Given the description of an element on the screen output the (x, y) to click on. 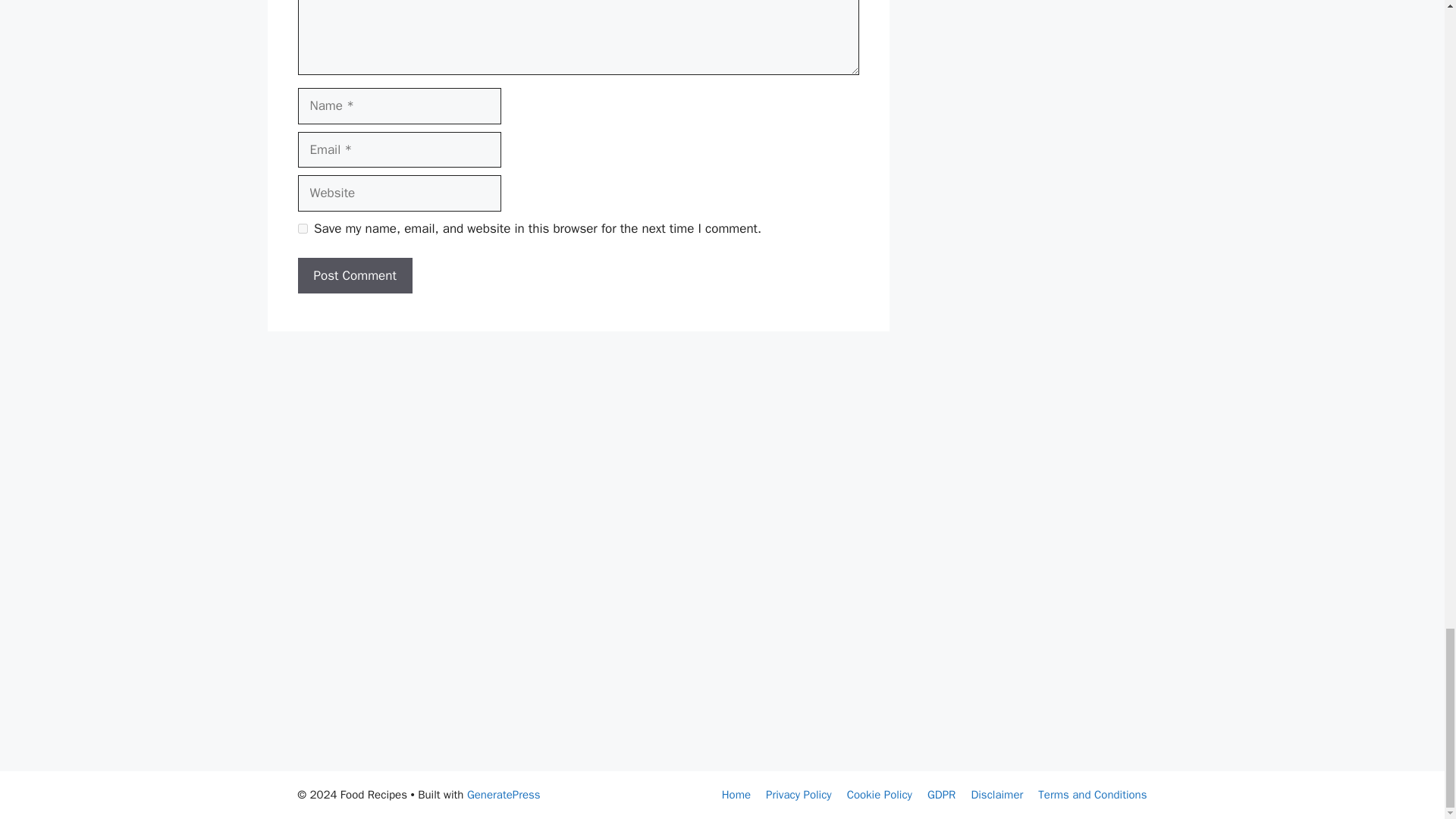
Terms and Conditions (1092, 794)
Home (736, 794)
Post Comment (354, 275)
GDPR (941, 794)
Post Comment (354, 275)
GeneratePress (503, 794)
yes (302, 228)
Disclaimer (997, 794)
Privacy Policy (798, 794)
Cookie Policy (879, 794)
